Given the description of an element on the screen output the (x, y) to click on. 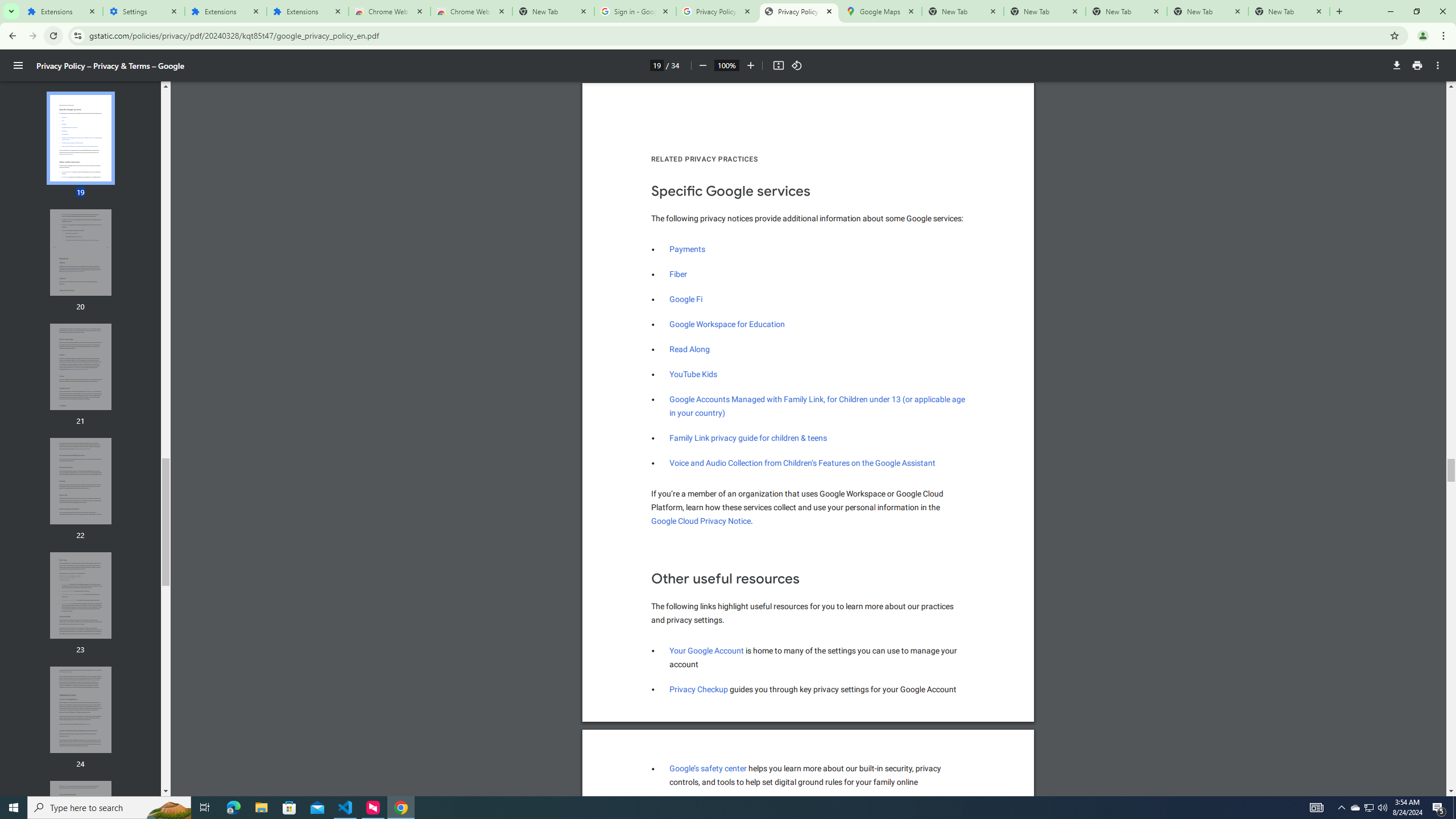
Extensions (307, 11)
Settings (143, 11)
Fit to page (777, 65)
Thumbnail for page 24 (80, 709)
Sign in - Google Accounts (635, 11)
Page number (656, 64)
Your Google Account (748, 438)
New Tab (689, 349)
Print (706, 651)
